Given the description of an element on the screen output the (x, y) to click on. 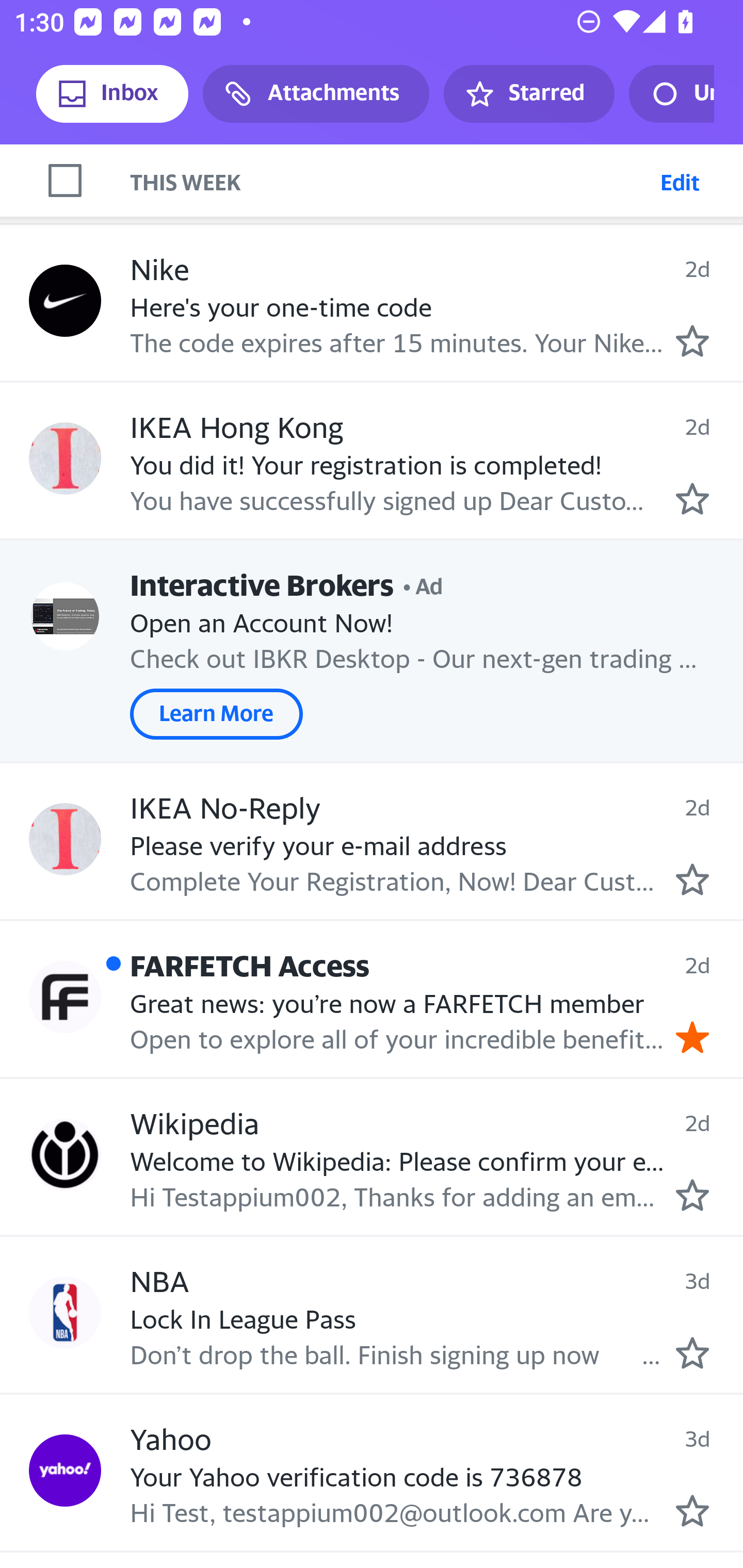
Attachments (315, 93)
Starred (528, 93)
Profile
Nike (64, 300)
Mark as starred. (692, 341)
Profile
IKEA Hong Kong (64, 457)
Mark as starred. (692, 499)
Profile
IKEA No-Reply (64, 838)
Mark as starred. (692, 878)
Profile
FARFETCH Access (64, 997)
Remove star. (692, 1037)
Profile
Wikipedia (64, 1154)
Mark as starred. (692, 1195)
Profile
NBA (64, 1312)
Mark as starred. (692, 1352)
Profile
Yahoo (64, 1470)
Mark as starred. (692, 1510)
